Given the description of an element on the screen output the (x, y) to click on. 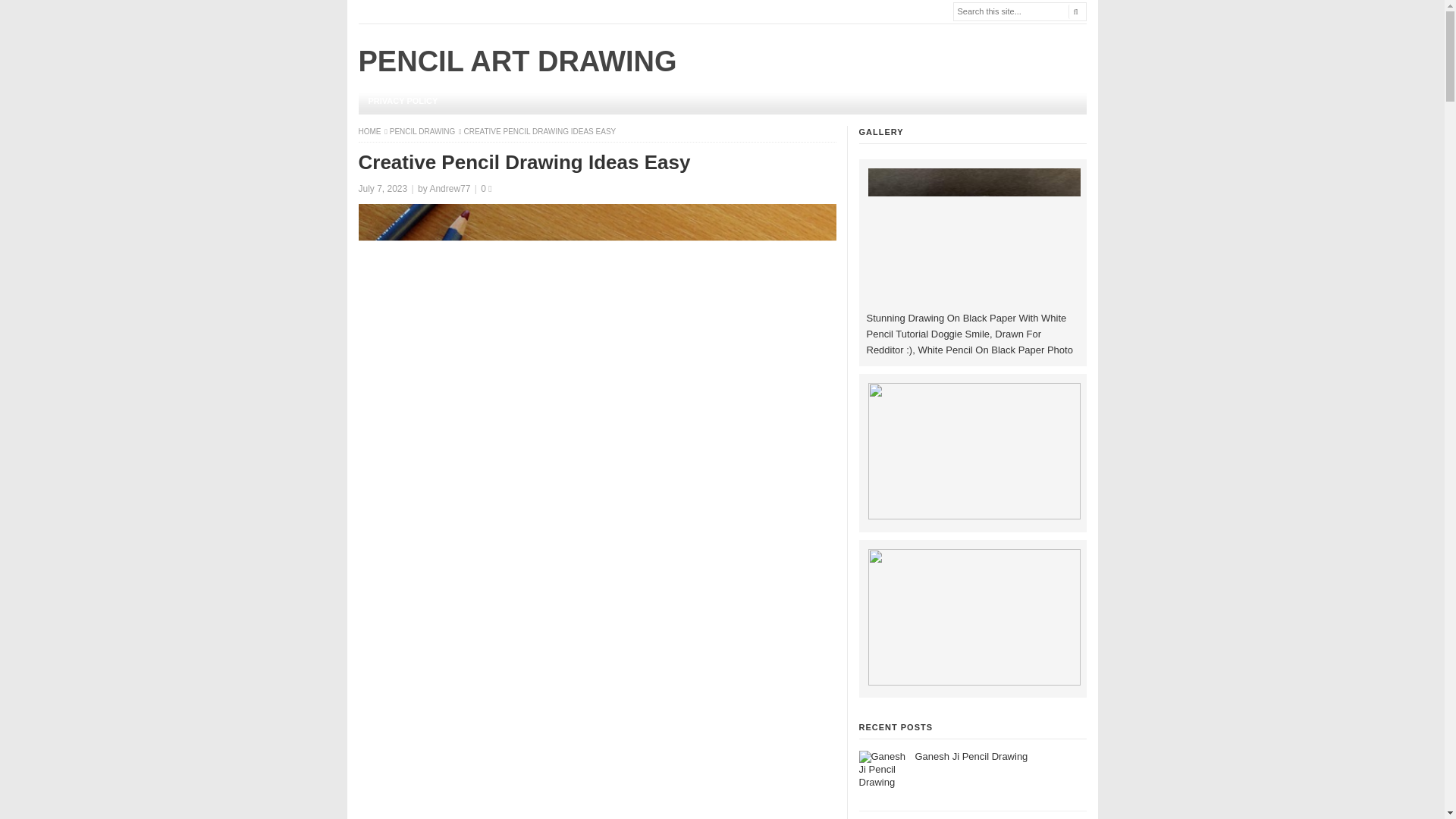
Andrew77 (449, 188)
PRIVACY POLICY (402, 100)
PENCIL DRAWING (423, 131)
Ganesh Ji Pencil Drawing (970, 756)
Pencil Art Drawing (369, 131)
Post Comment (42, 11)
PENCIL ART DRAWING (517, 61)
HOME (369, 131)
